Given the description of an element on the screen output the (x, y) to click on. 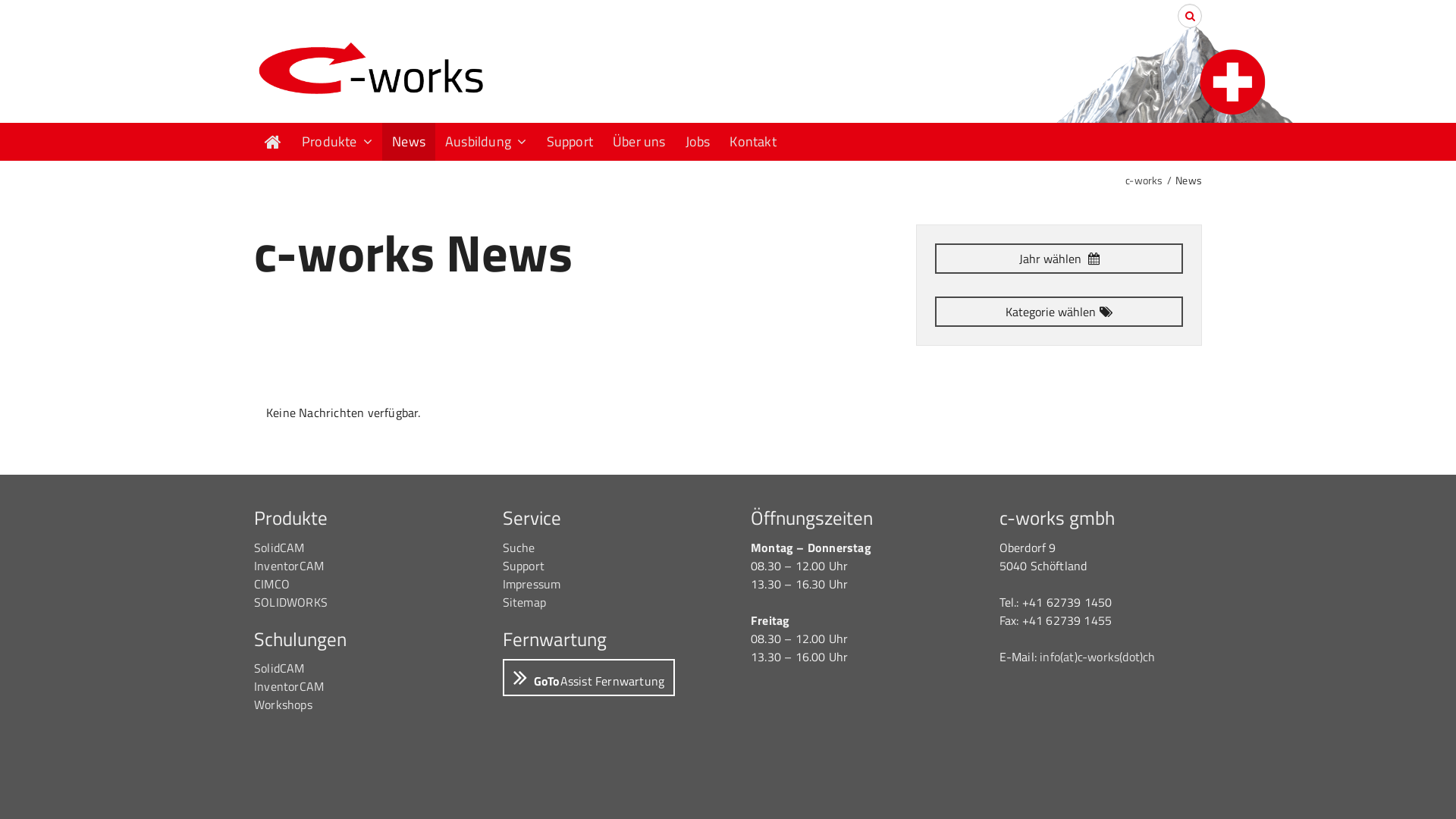
Impressum Element type: text (531, 583)
Ausbildung Element type: text (485, 141)
Workshops Element type: text (283, 704)
News Element type: text (408, 141)
info(at)c-works(dot)ch Element type: text (1096, 656)
Suche Element type: text (518, 547)
c-works Element type: text (1143, 180)
InventorCAM Element type: text (288, 686)
c-works Element type: hover (370, 67)
Produkte Element type: text (336, 141)
Sitemap Element type: text (523, 602)
Support Element type: text (569, 141)
Home Element type: text (272, 141)
SOLIDWORKS Element type: text (290, 602)
GoToAssist Fernwartung Element type: text (588, 677)
Support Element type: text (522, 565)
SolidCAM Element type: text (279, 547)
InventorCAM Element type: text (288, 565)
Jobs Element type: text (697, 141)
Kontakt Element type: text (752, 141)
SolidCAM Element type: text (279, 667)
CIMCO Element type: text (271, 583)
